Given the description of an element on the screen output the (x, y) to click on. 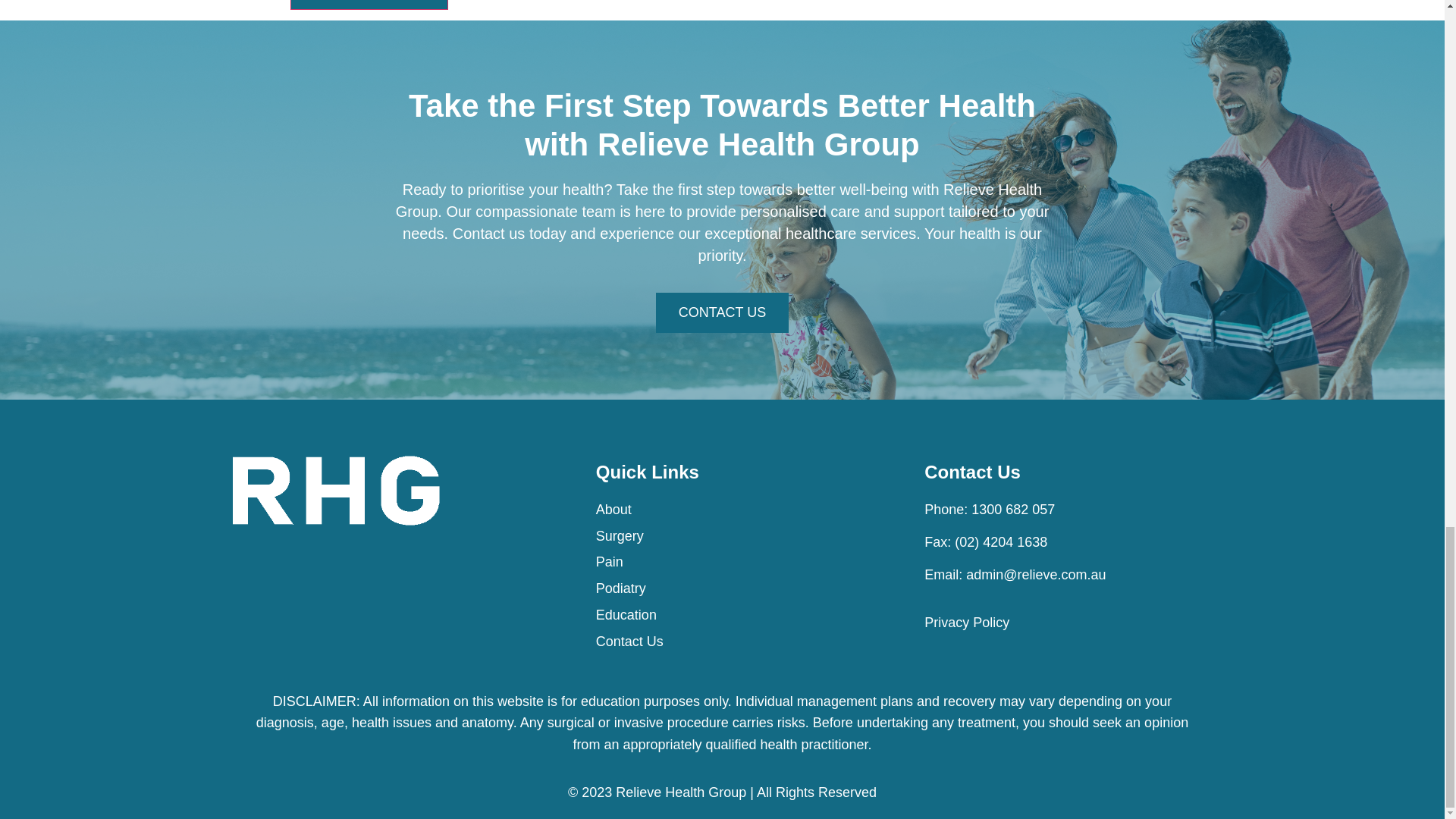
CONTACT US (722, 312)
Post Comment (368, 4)
Pain (740, 562)
Podiatry (740, 588)
Education (740, 615)
Surgery (740, 536)
Post Comment (368, 4)
About (740, 509)
Contact Us (740, 641)
Privacy Policy (1069, 622)
